Given the description of an element on the screen output the (x, y) to click on. 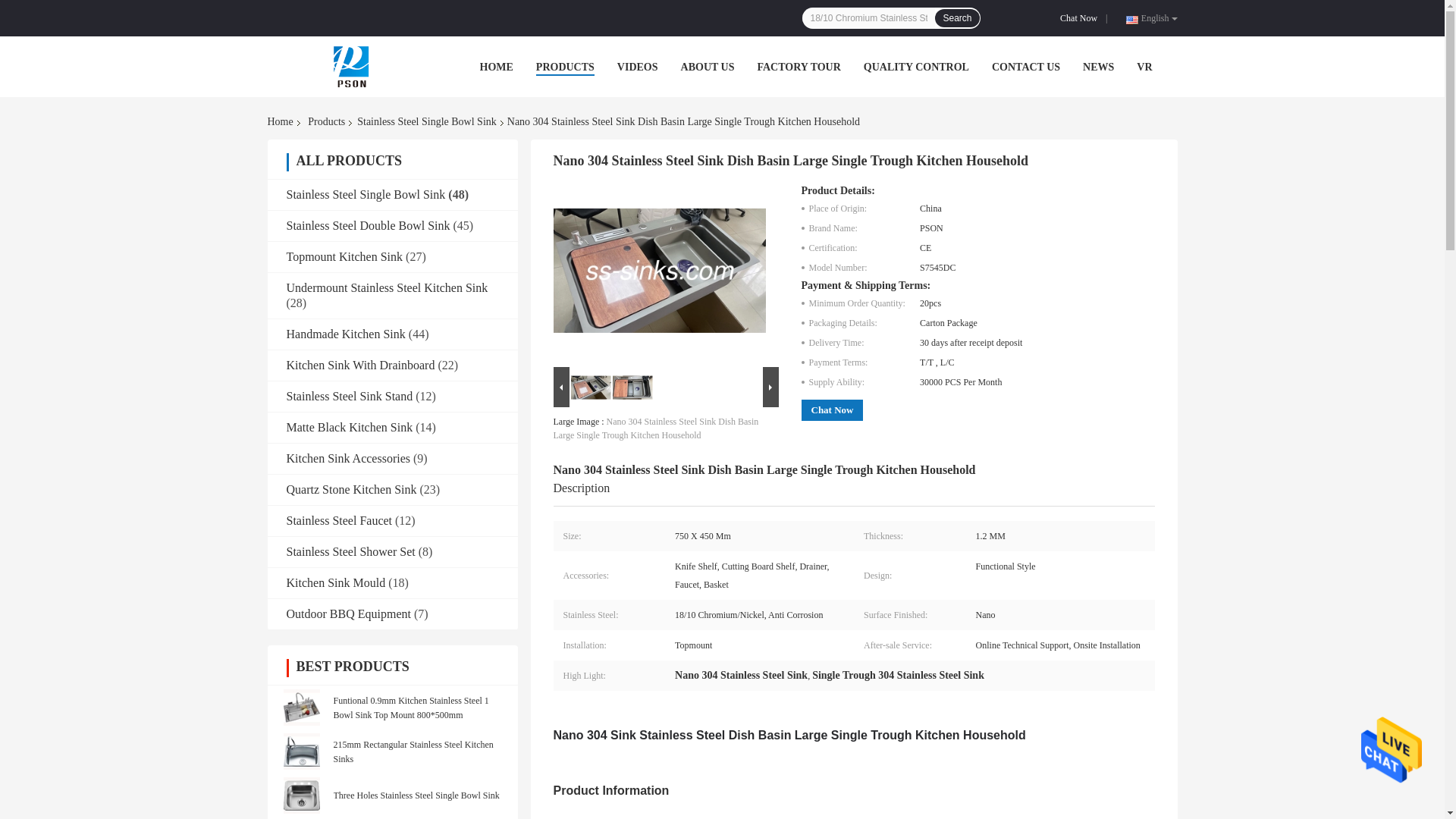
Quote (1081, 18)
VR (1144, 66)
Stainless Steel Single Bowl Sink (365, 194)
Handmade Kitchen Sink (346, 333)
Home (282, 121)
NEWS (1098, 66)
PRODUCTS (564, 66)
HOME (495, 66)
Stainless Steel Single Bowl Sink (426, 121)
VIDEOS (637, 66)
QUALITY CONTROL (916, 66)
Stainless Steel Double Bowl Sink (367, 225)
Products (325, 121)
Topmount Kitchen Sink (344, 256)
Passion Kitchen And Sanitary Industrial CO.,LTD (349, 66)
